Given the description of an element on the screen output the (x, y) to click on. 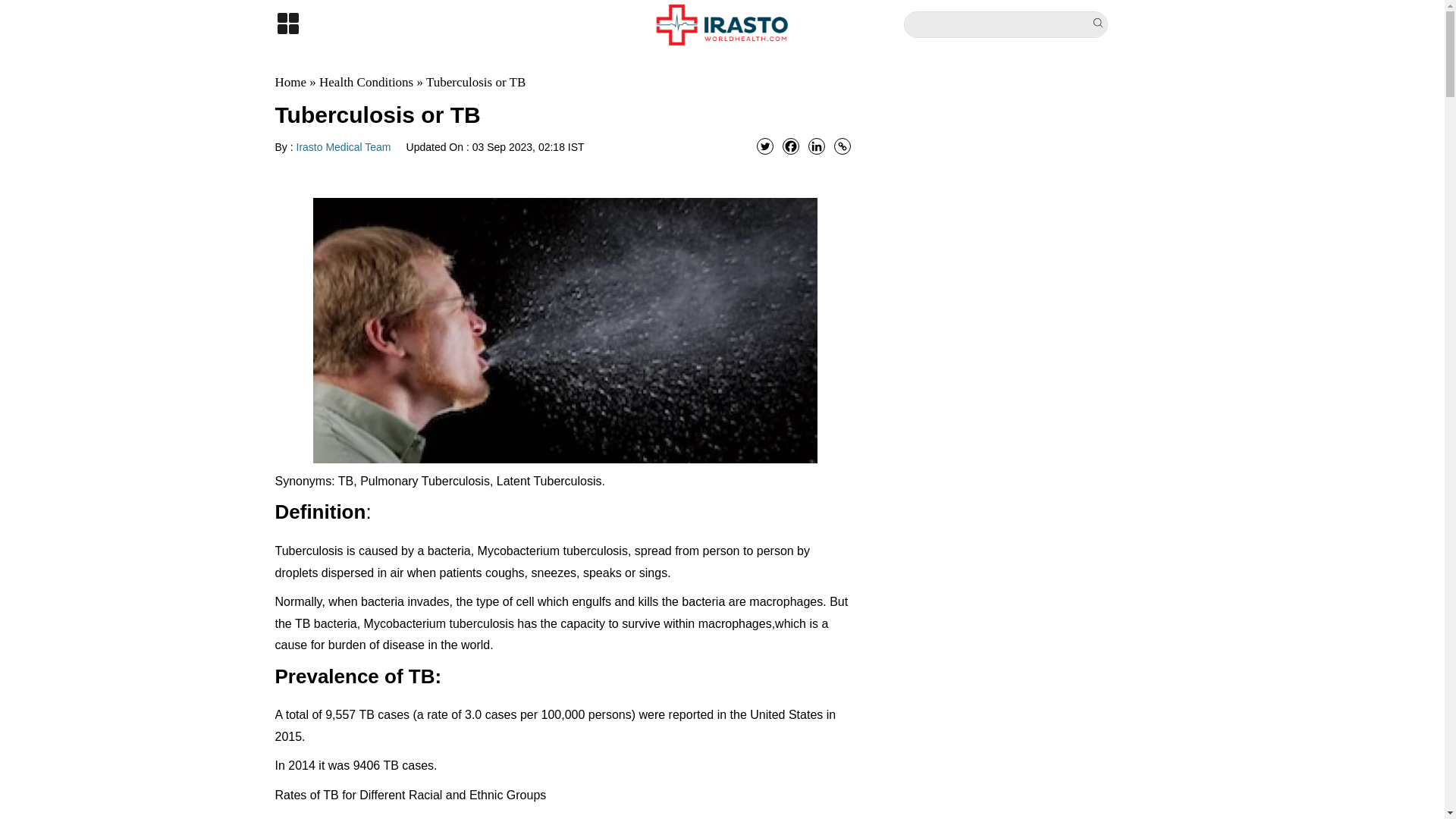
Health Conditions (365, 82)
Irasto Medical Team (344, 146)
Linkedin (816, 146)
Home (290, 82)
Search (1099, 23)
Search (1099, 23)
Irasto-logo (722, 24)
Copy Link (842, 146)
Facebook (791, 146)
Search (1099, 23)
Twitter (765, 146)
